Given the description of an element on the screen output the (x, y) to click on. 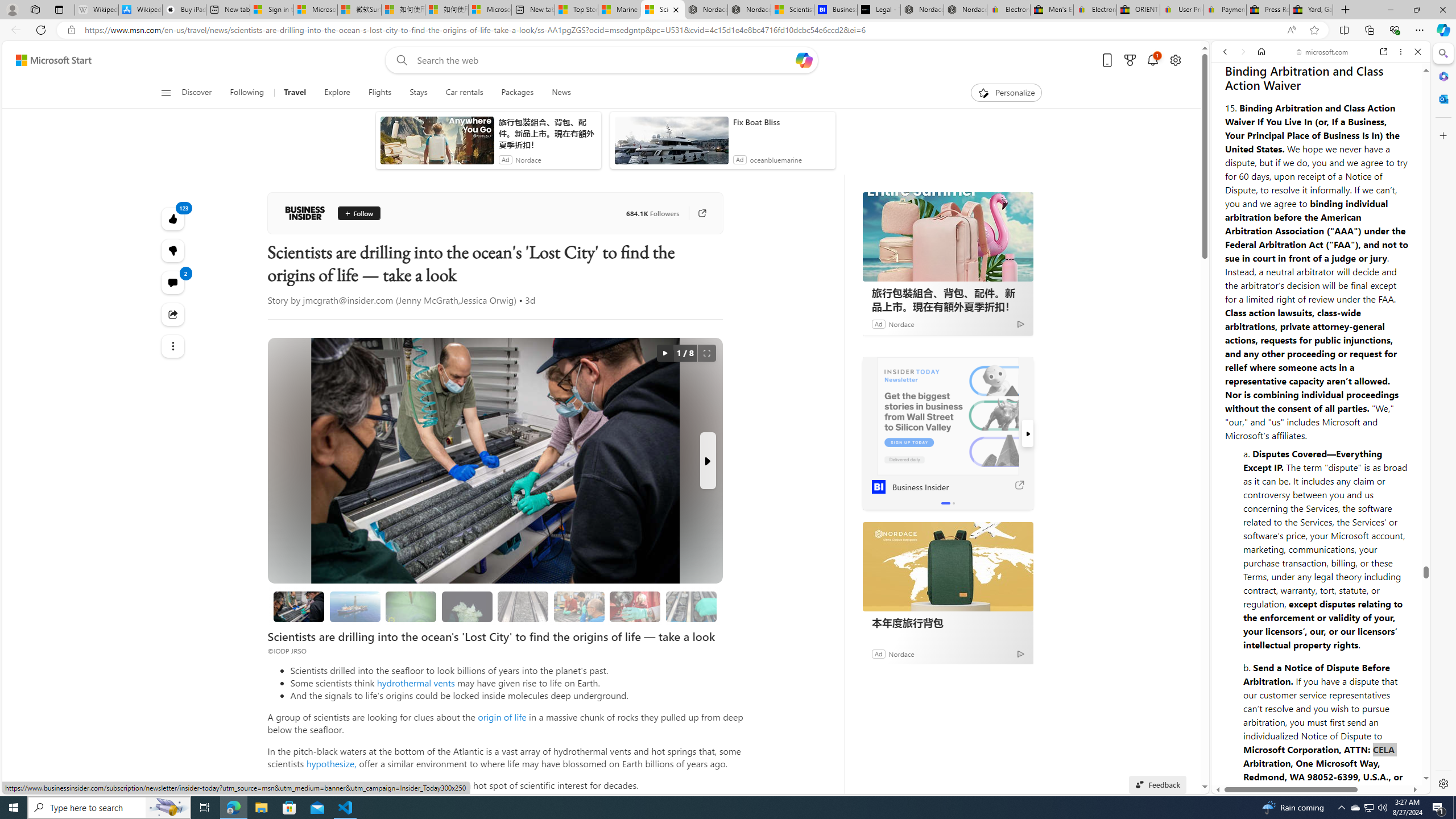
Business Insider (947, 416)
Go to publisher's site (701, 213)
Researchers are still studying the samples (691, 606)
